Given the description of an element on the screen output the (x, y) to click on. 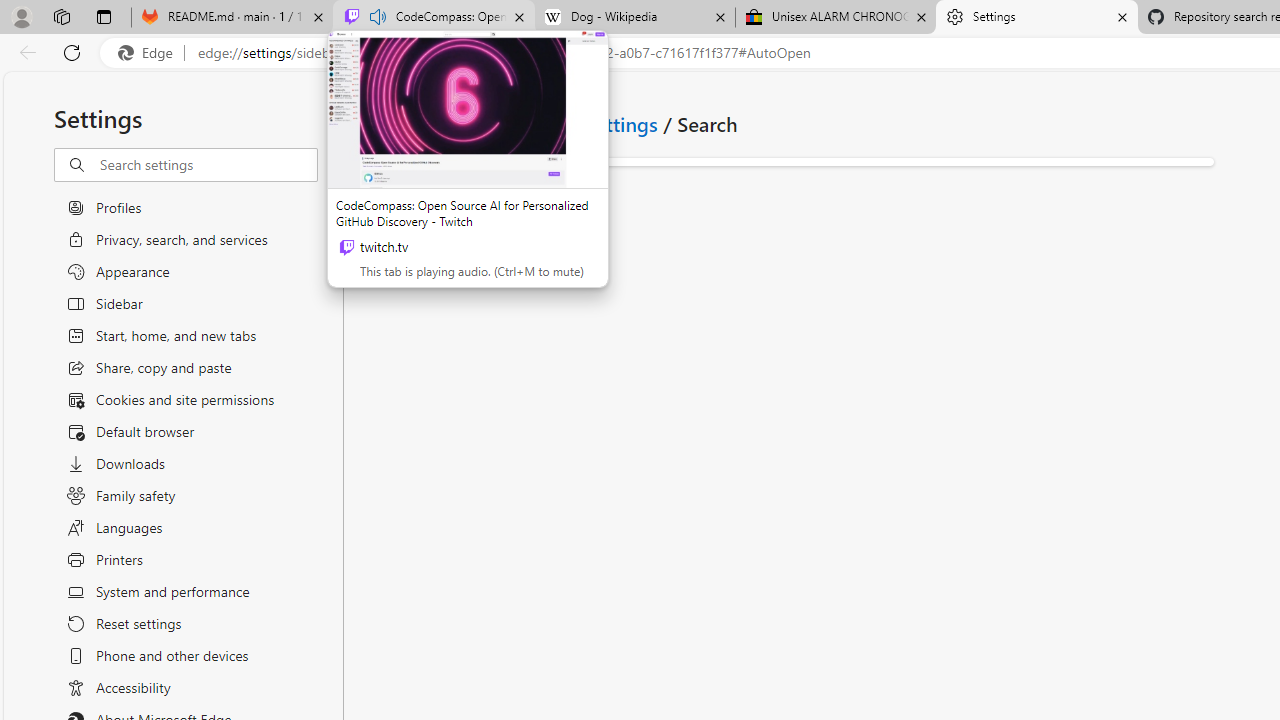
Go back to App and notification settings page. (372, 123)
